Given the description of an element on the screen output the (x, y) to click on. 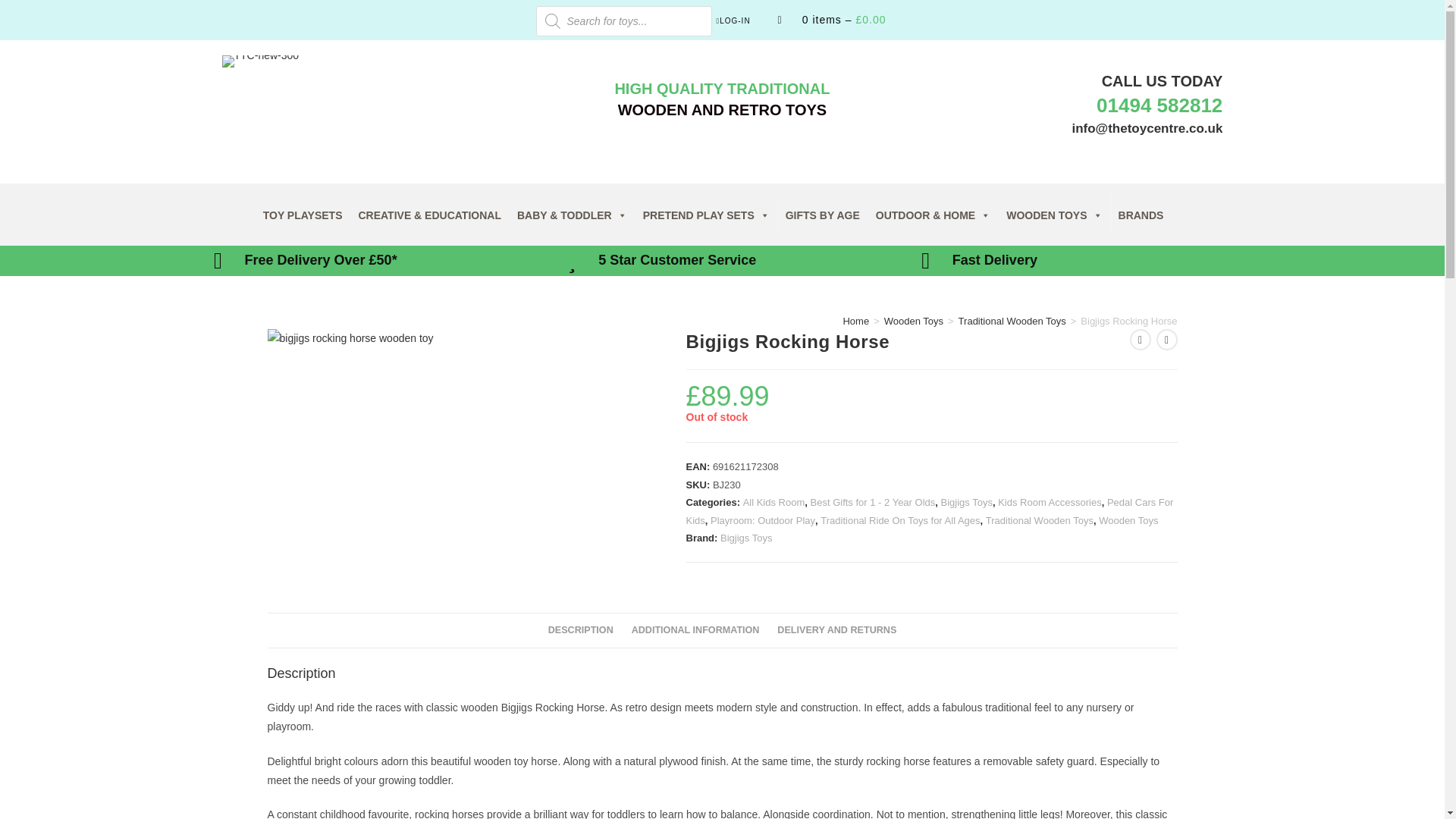
LOG-IN (743, 21)
httpswww.bigjigstoys.comimages3pbj230 (349, 338)
TTC-new-300 (259, 61)
TOY PLAYSETS (303, 215)
Start shopping (841, 20)
PRETEND PLAY SETS (705, 215)
GIFTS BY AGE (822, 215)
